Given the description of an element on the screen output the (x, y) to click on. 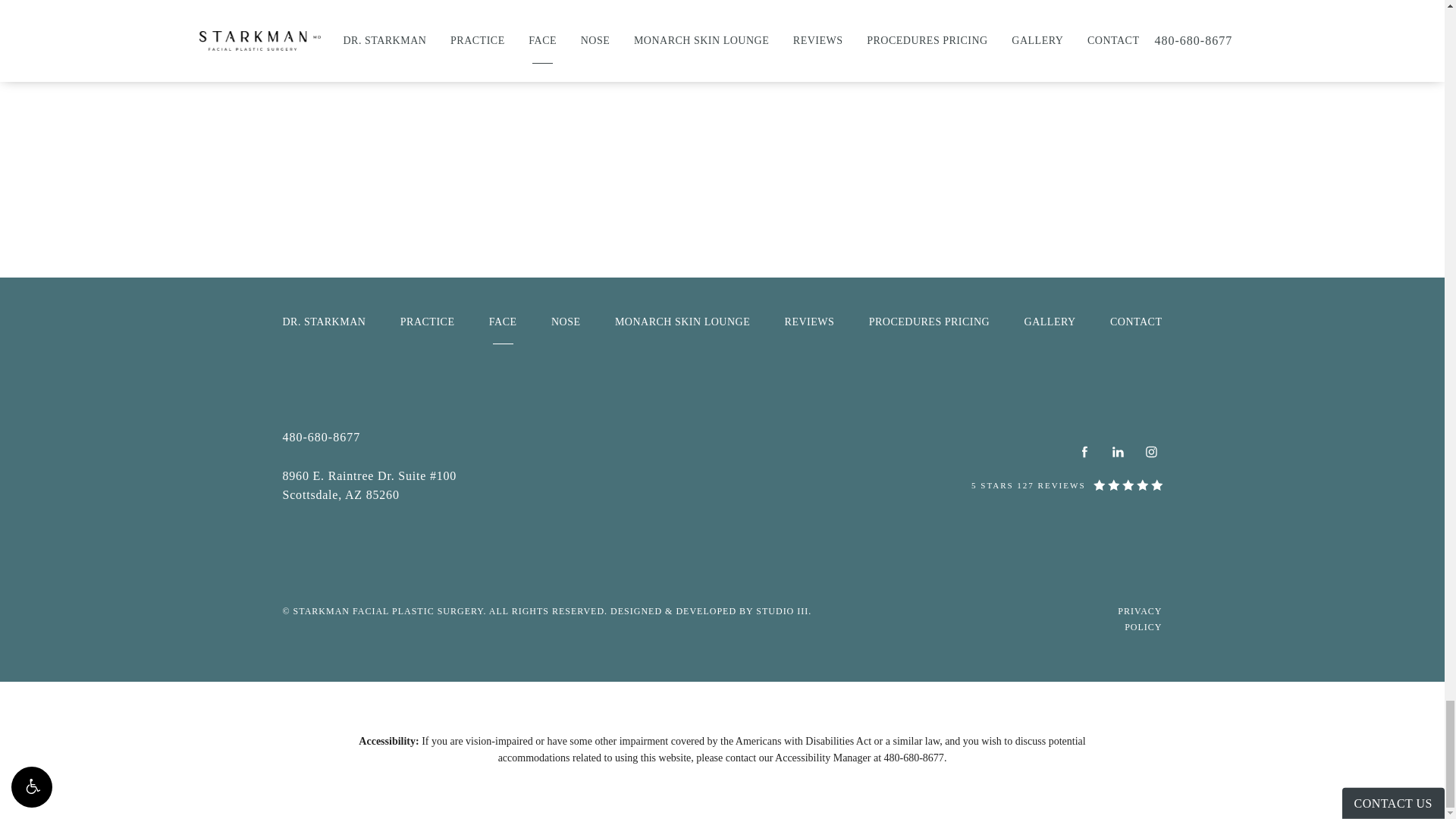
Starkman Facial Plastic Surgery on Instagram (1150, 451)
Starkman Facial Plastic Surgery on Facebook (1085, 451)
Starkman Facial Plastic Surgery on Linkedin (1117, 451)
